Given the description of an element on the screen output the (x, y) to click on. 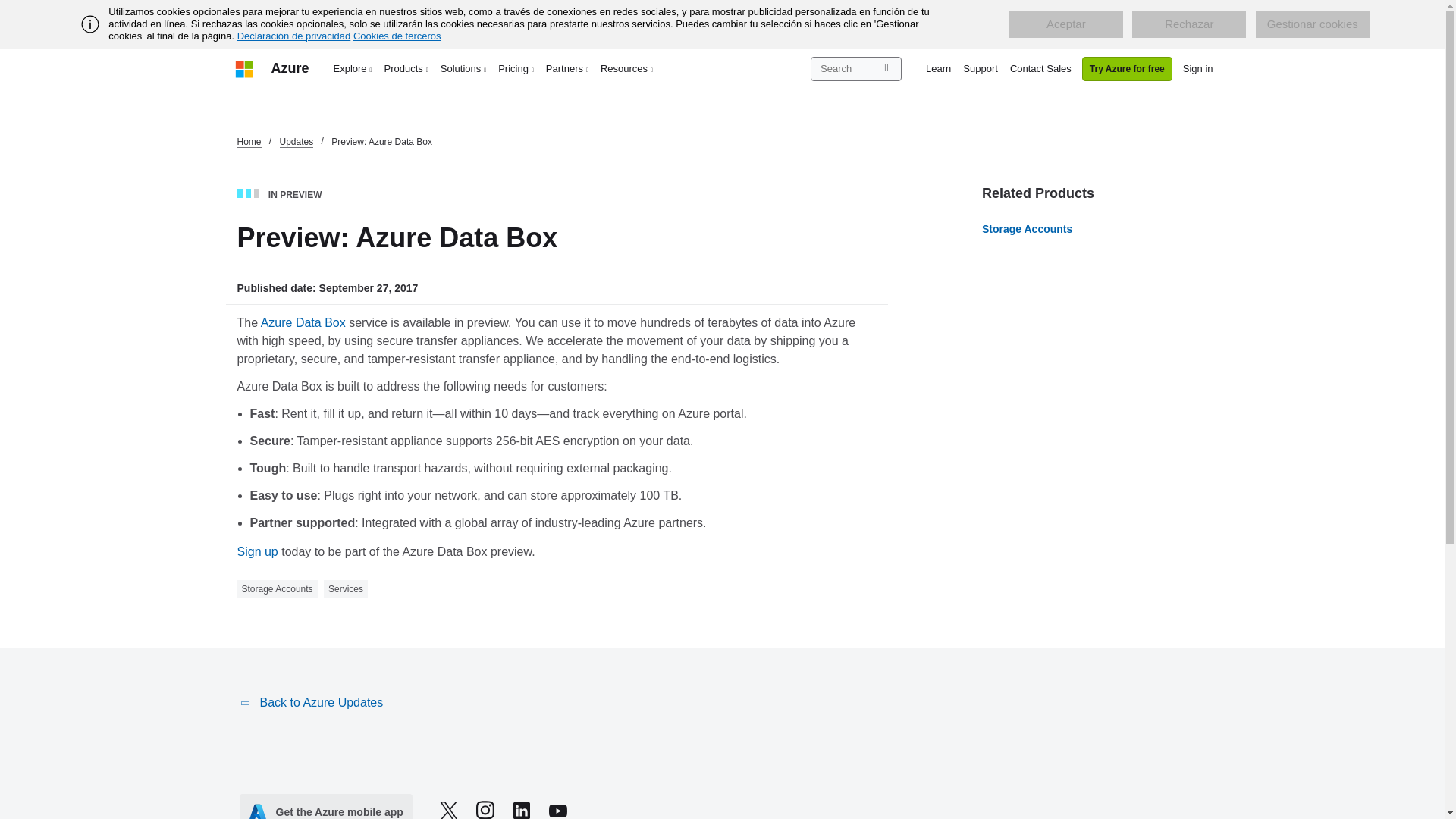
Azure (289, 68)
Rechazar (1189, 23)
Skip to main content (7, 7)
Explore (352, 68)
Aceptar (1065, 23)
Cookies de terceros (397, 35)
Products (405, 68)
Gestionar cookies (1312, 23)
